Given the description of an element on the screen output the (x, y) to click on. 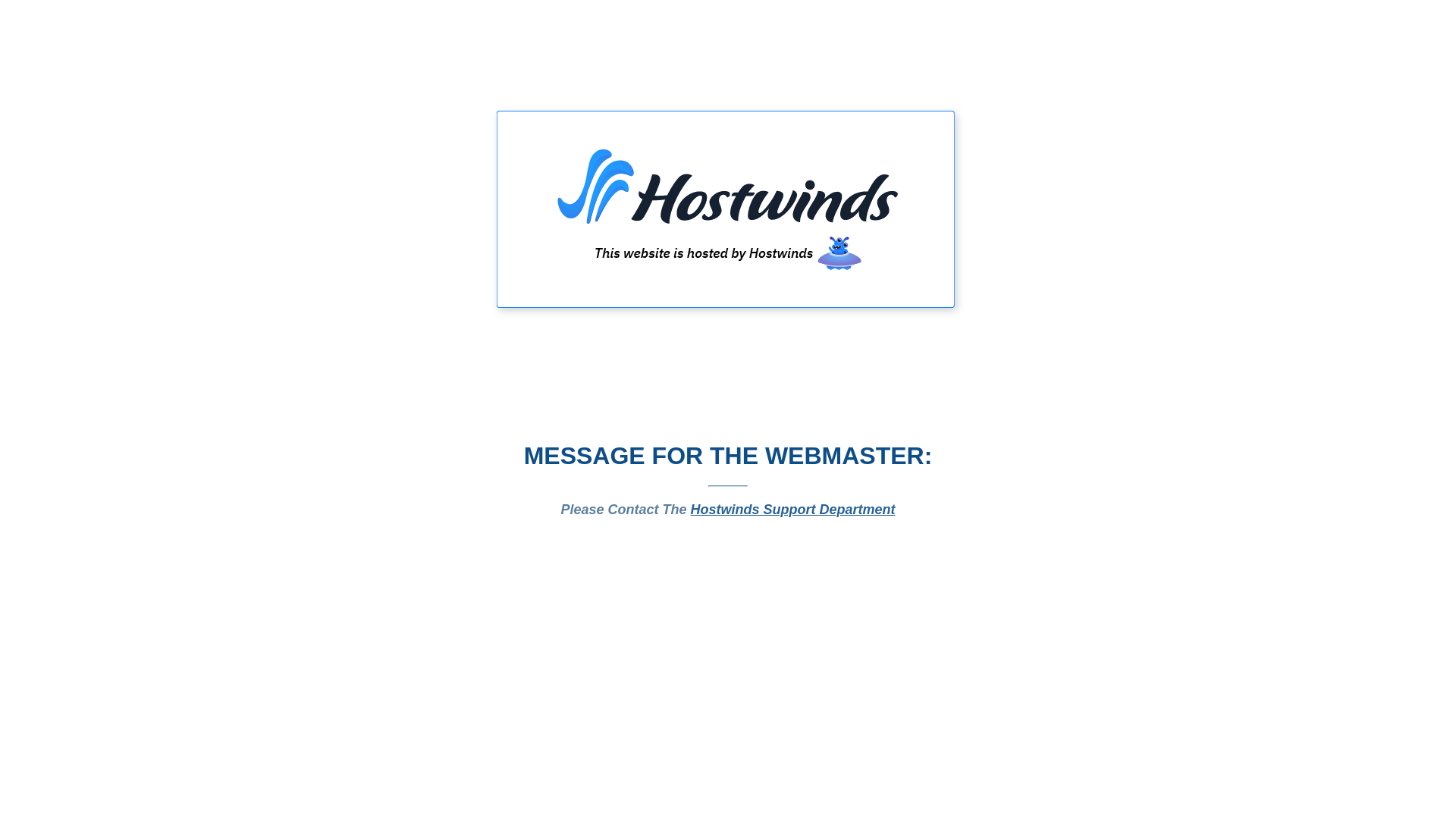
Hostwinds Support Department Element type: text (792, 509)
